Given the description of an element on the screen output the (x, y) to click on. 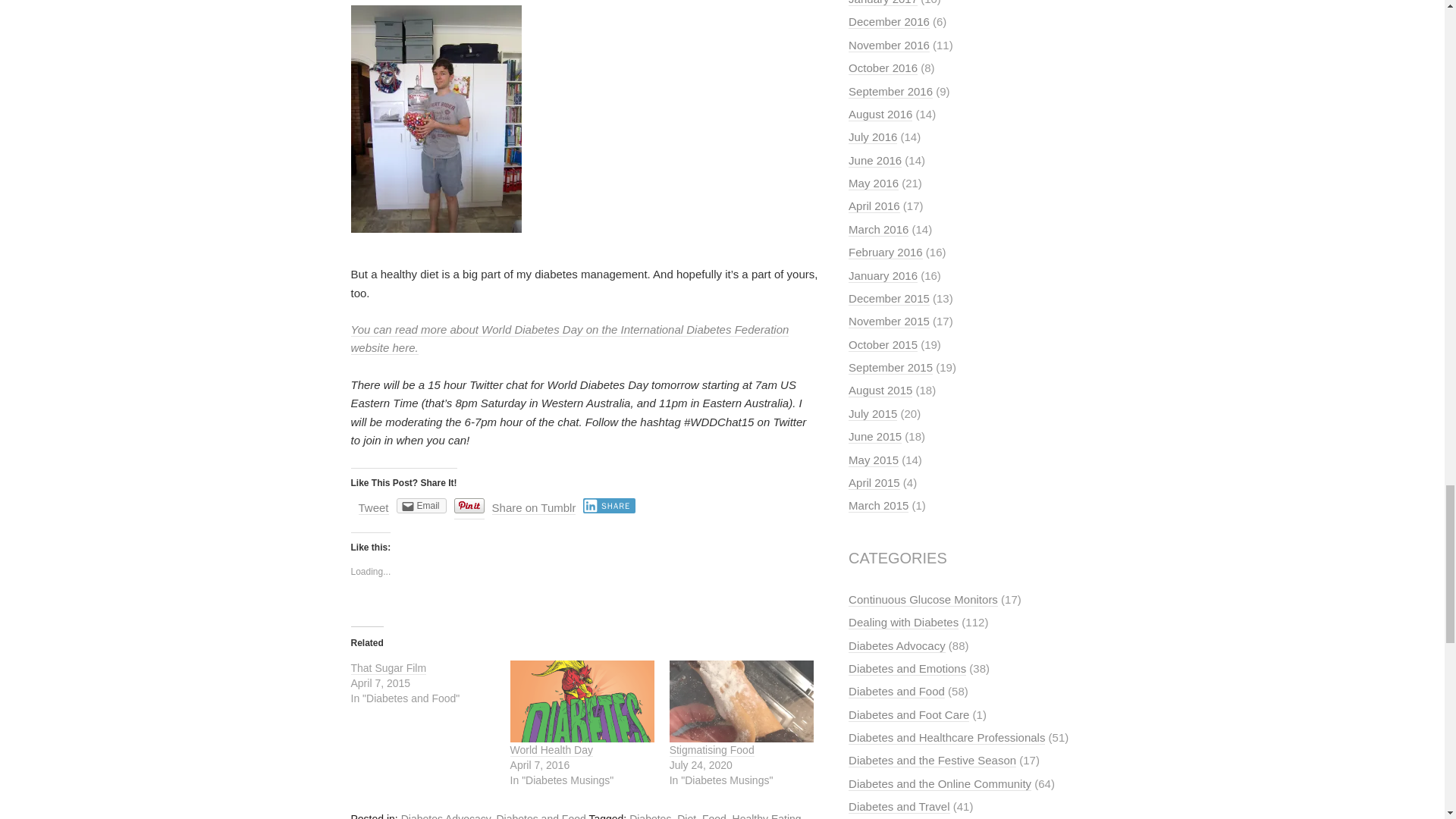
Email (421, 505)
Healthy Eating (767, 816)
Stigmatising Food (711, 749)
Diabetes and Food (540, 816)
Diet (686, 816)
Stigmatising Food (741, 701)
Click to email this to a friend (421, 505)
Share on Tumblr (534, 508)
SHARE (608, 505)
World Health Day (582, 701)
World Health Day (551, 749)
Diabetes (649, 816)
Share on Tumblr (534, 508)
Tweet (373, 508)
